Given the description of an element on the screen output the (x, y) to click on. 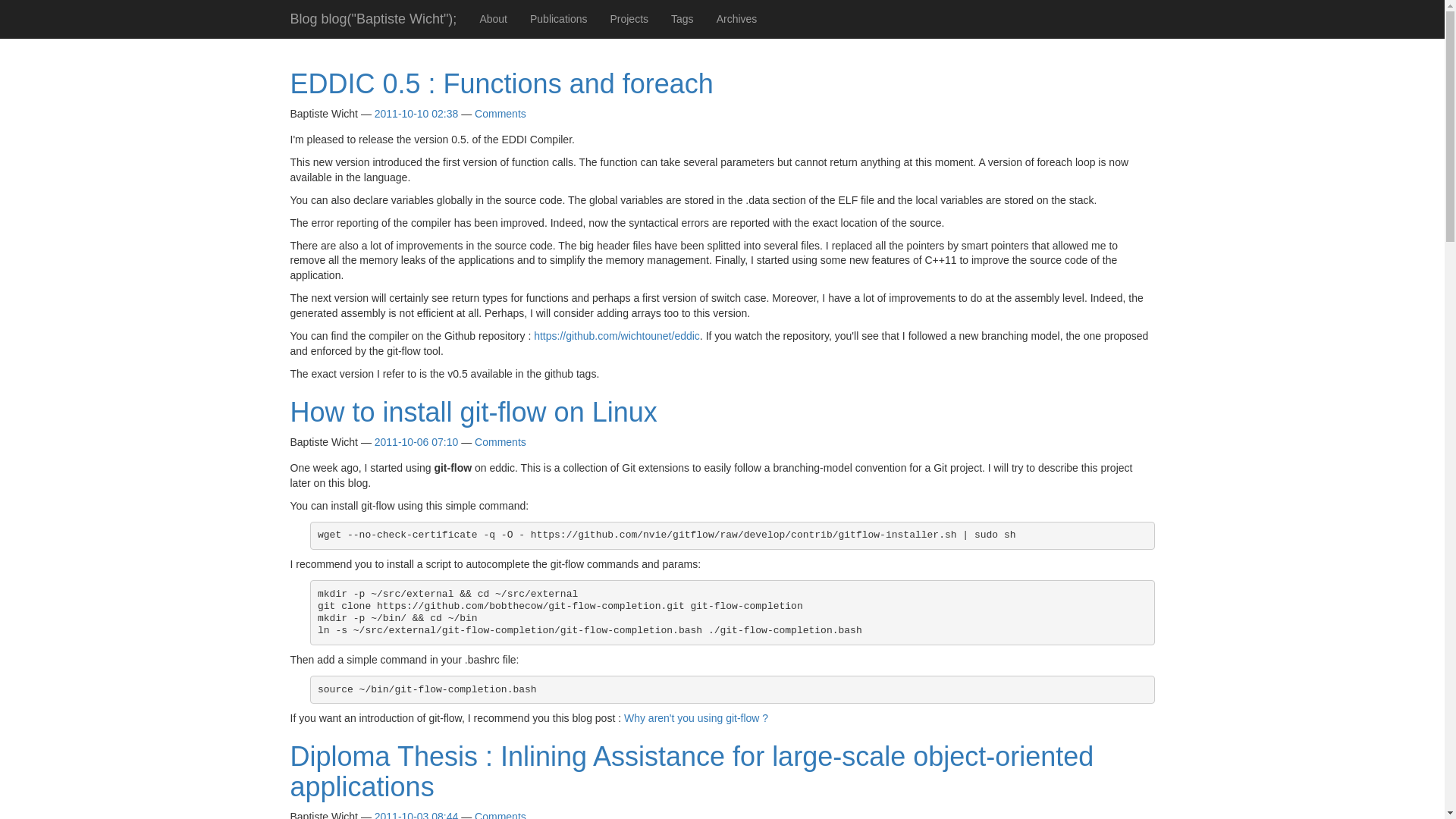
Why aren't you using git-flow ? (696, 717)
2011-10-10 02:38 (416, 113)
Publications (558, 18)
2011-10-06 07:10 (416, 441)
Tags (681, 18)
Comments (499, 113)
Why aren't you using git-flow ? (696, 717)
EDDI COmpiler Repository (617, 336)
2011-10-06 07:10 (416, 441)
Comments (499, 814)
EDDIC 0.5 : Functions and foreach (501, 83)
About (492, 18)
Comments (499, 441)
2011-10-10 02:38 (416, 113)
